Given the description of an element on the screen output the (x, y) to click on. 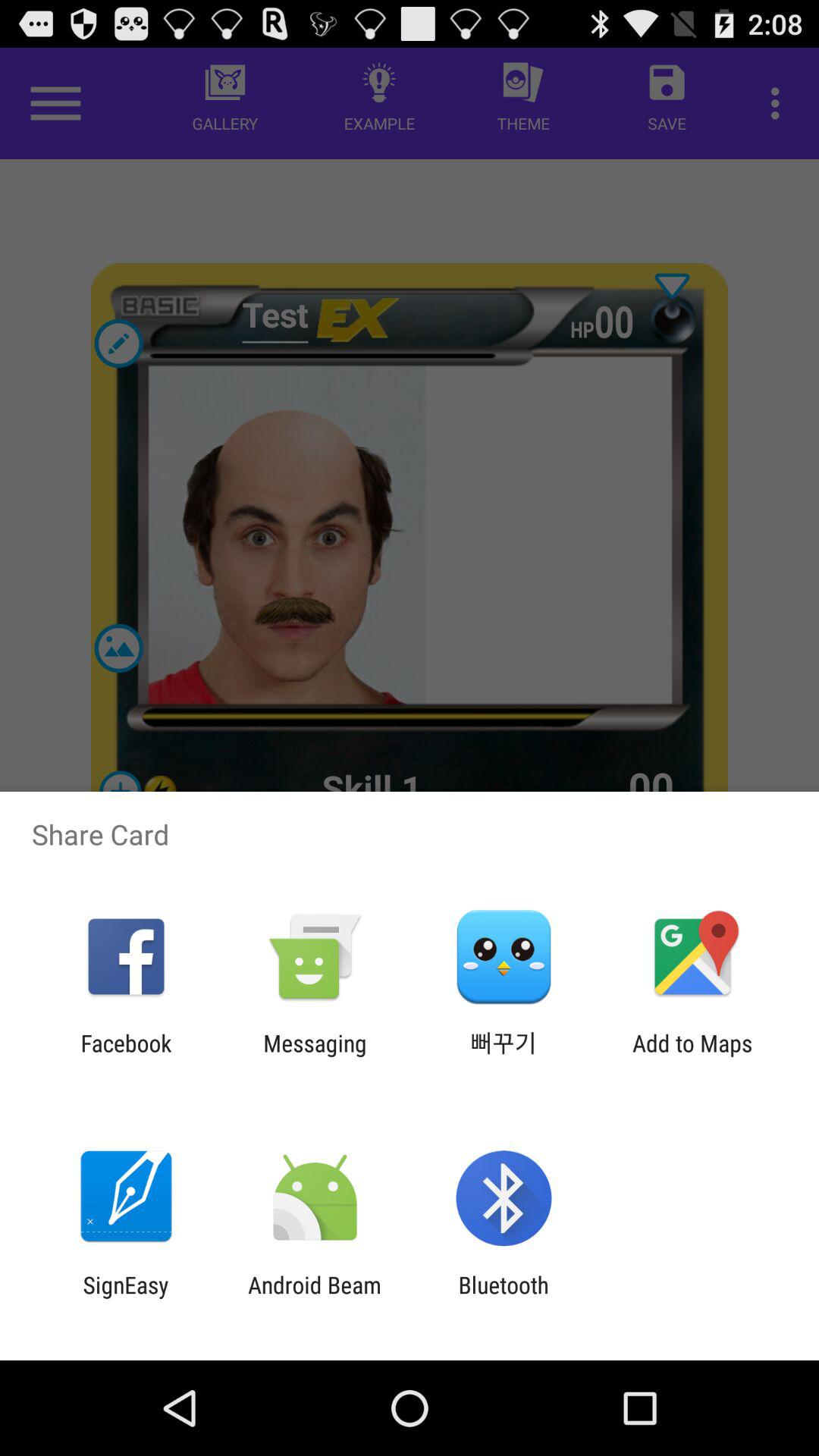
open the app next to the android beam icon (503, 1298)
